Given the description of an element on the screen output the (x, y) to click on. 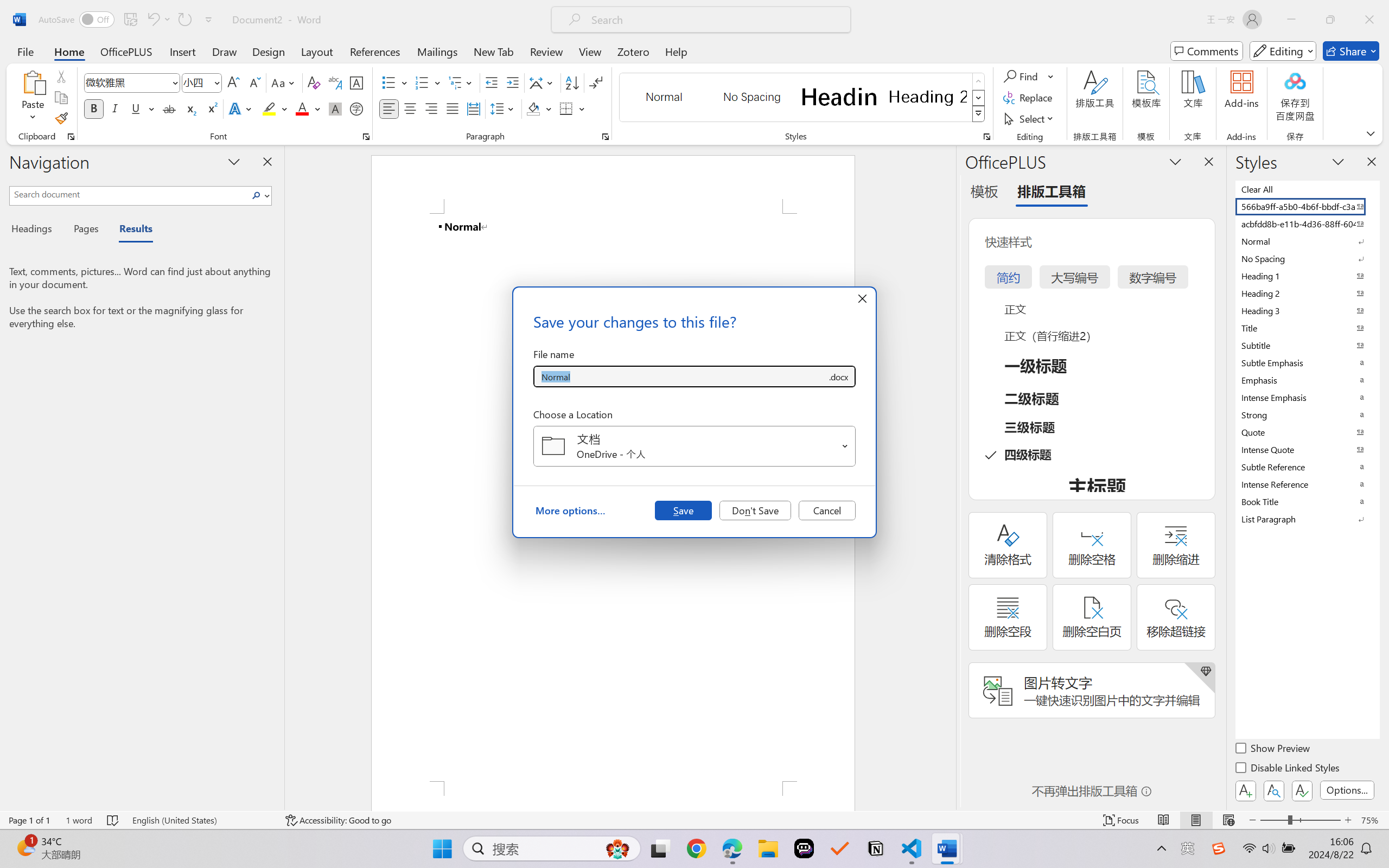
Read Mode (1163, 819)
Zoom Out (1273, 819)
Class: NetUIImage (978, 114)
Insert (182, 51)
Cancel (826, 509)
File name (680, 376)
Repeat Style (184, 19)
Character Shading (334, 108)
acbfdd8b-e11b-4d36-88ff-6049b138f862 (1306, 223)
Paragraph... (605, 136)
Choose a Location (694, 446)
Borders (566, 108)
